Given the description of an element on the screen output the (x, y) to click on. 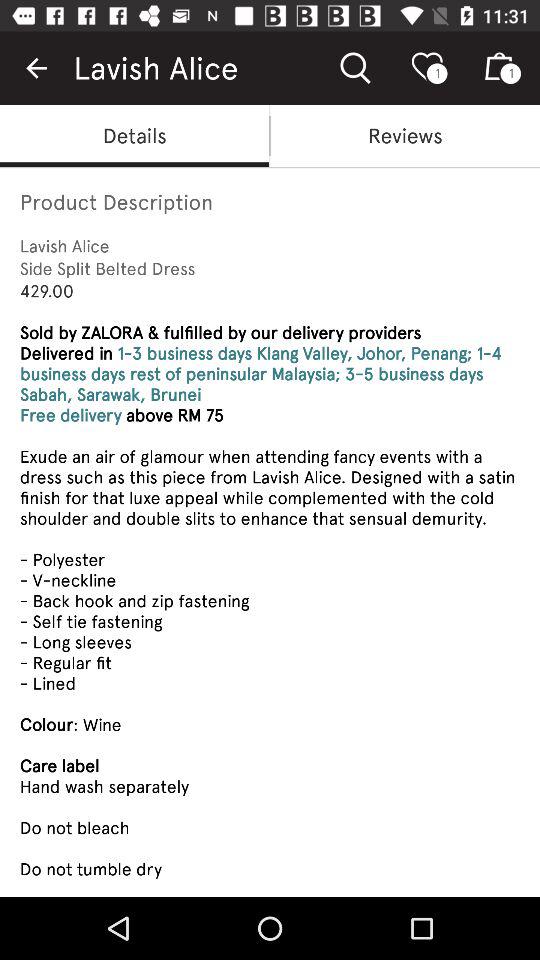
choose the details (134, 135)
